Given the description of an element on the screen output the (x, y) to click on. 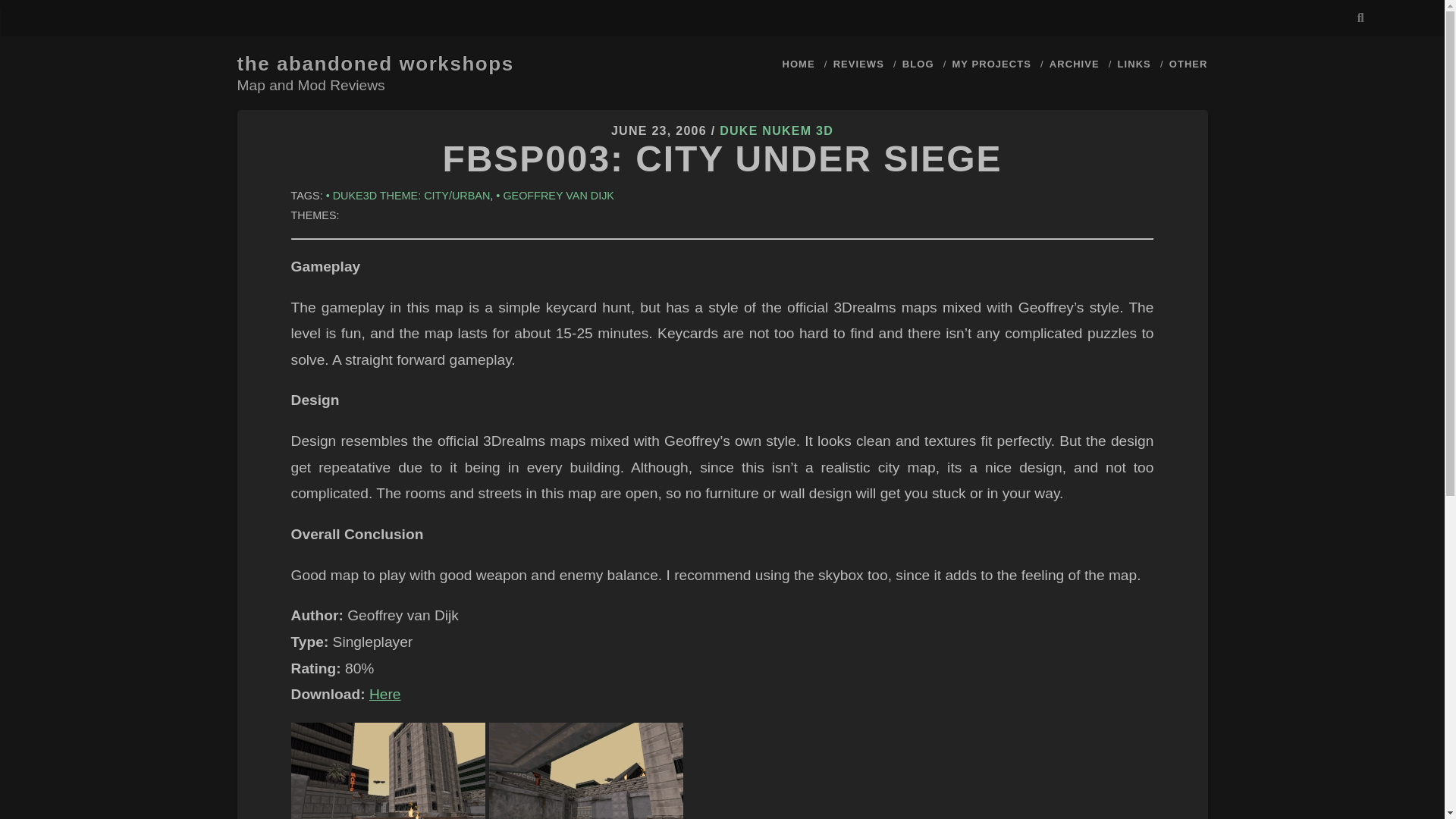
OTHER (1188, 64)
MY PROJECTS (991, 64)
BLOG (918, 64)
DUKE NUKEM 3D (775, 130)
REVIEWS (857, 64)
GEOFFREY VAN DIJK (555, 195)
the abandoned workshops (374, 63)
ARCHIVE (1074, 64)
LINKS (1134, 64)
Here (385, 693)
HOME (799, 64)
